Given the description of an element on the screen output the (x, y) to click on. 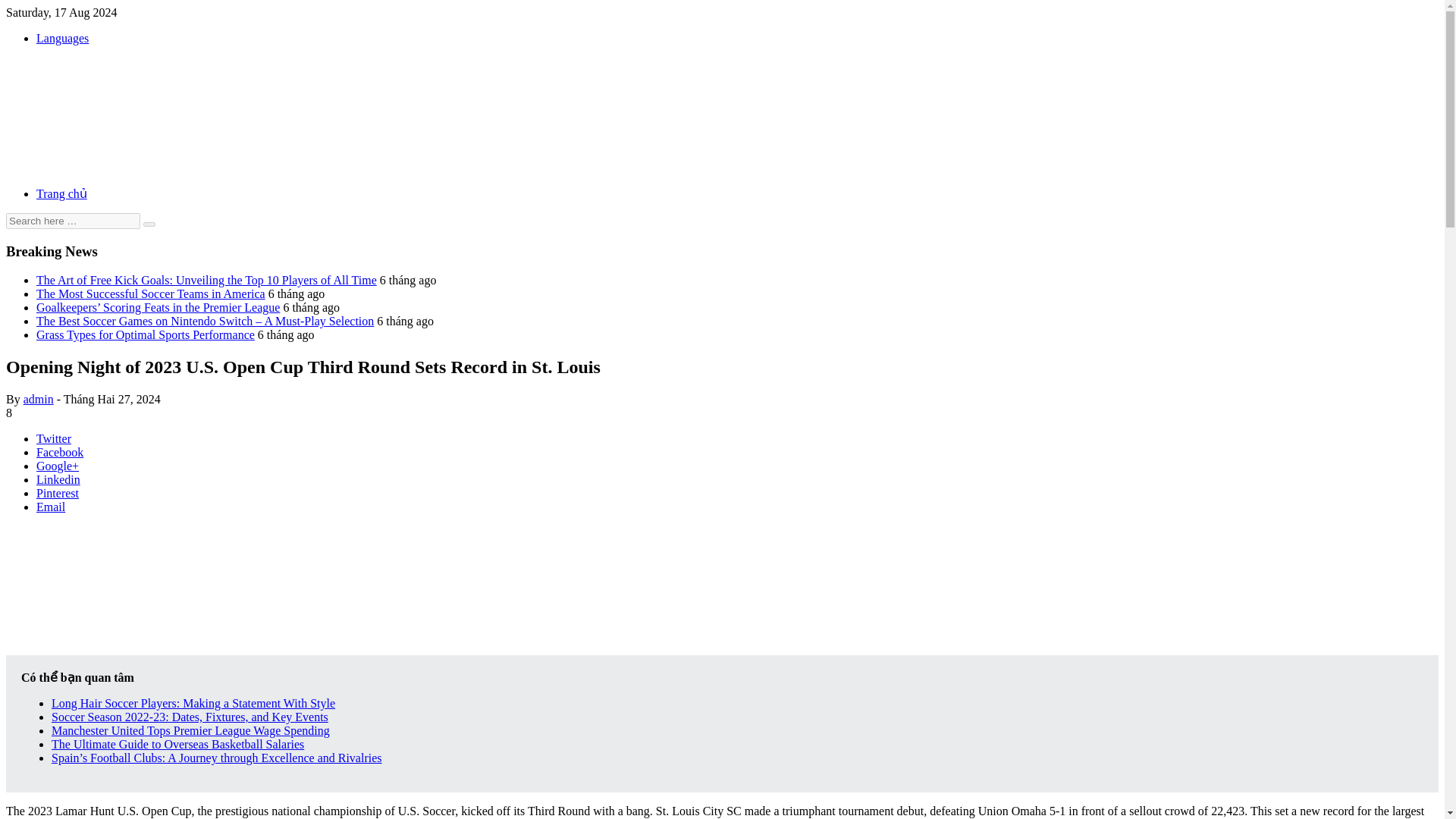
Facebook (59, 451)
Languages (62, 38)
Soccer Season 2022-23: Dates, Fixtures, and Key Events (189, 716)
Grass Types for Optimal Sports Performance (145, 334)
Pinterest (57, 492)
admin (38, 399)
Twitter (53, 438)
Manchester United Tops Premier League Wage Spending (190, 730)
Email (50, 506)
